Given the description of an element on the screen output the (x, y) to click on. 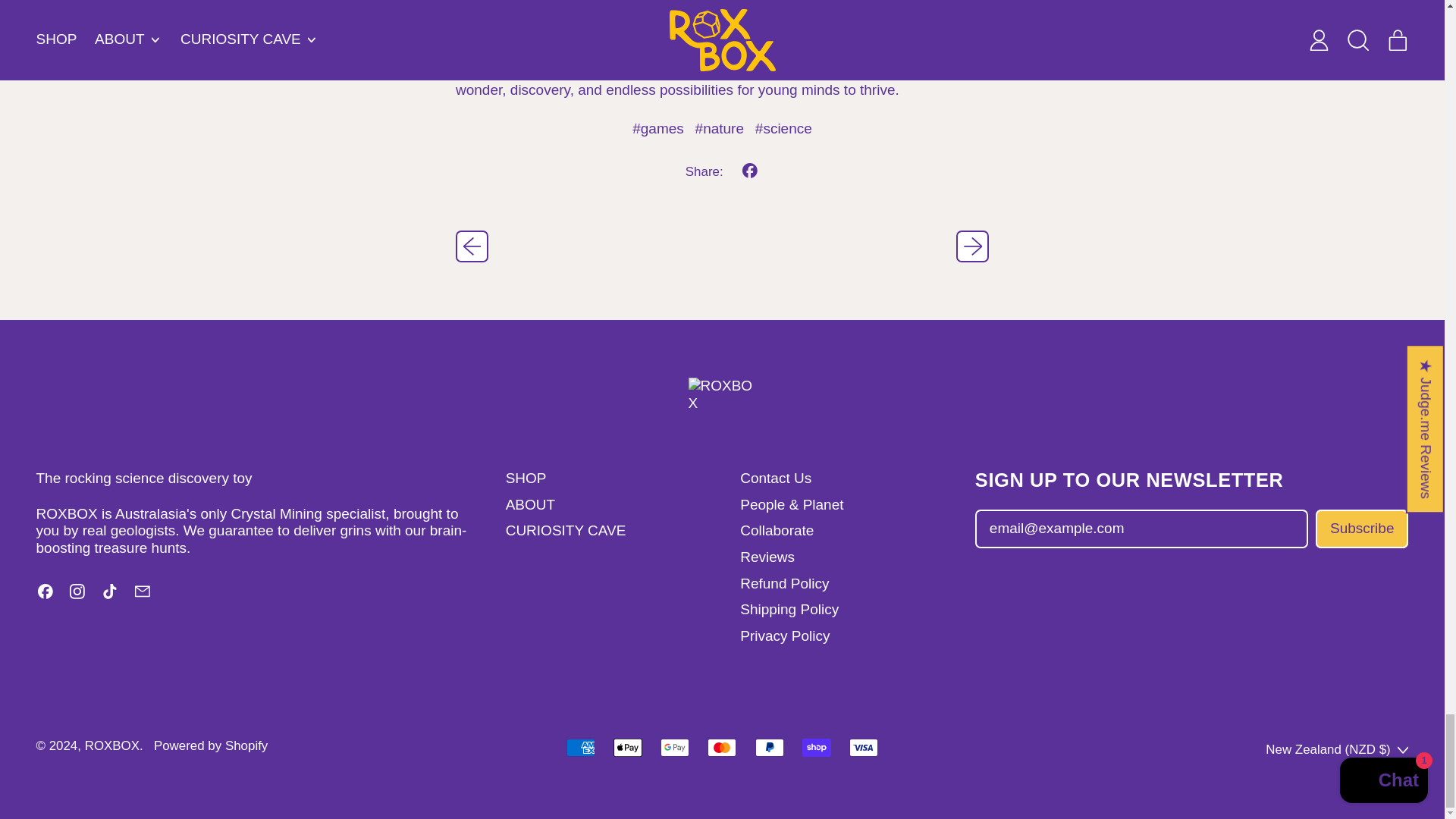
Facebook (45, 595)
Instagram (76, 595)
Share on Facebook (750, 171)
